Given the description of an element on the screen output the (x, y) to click on. 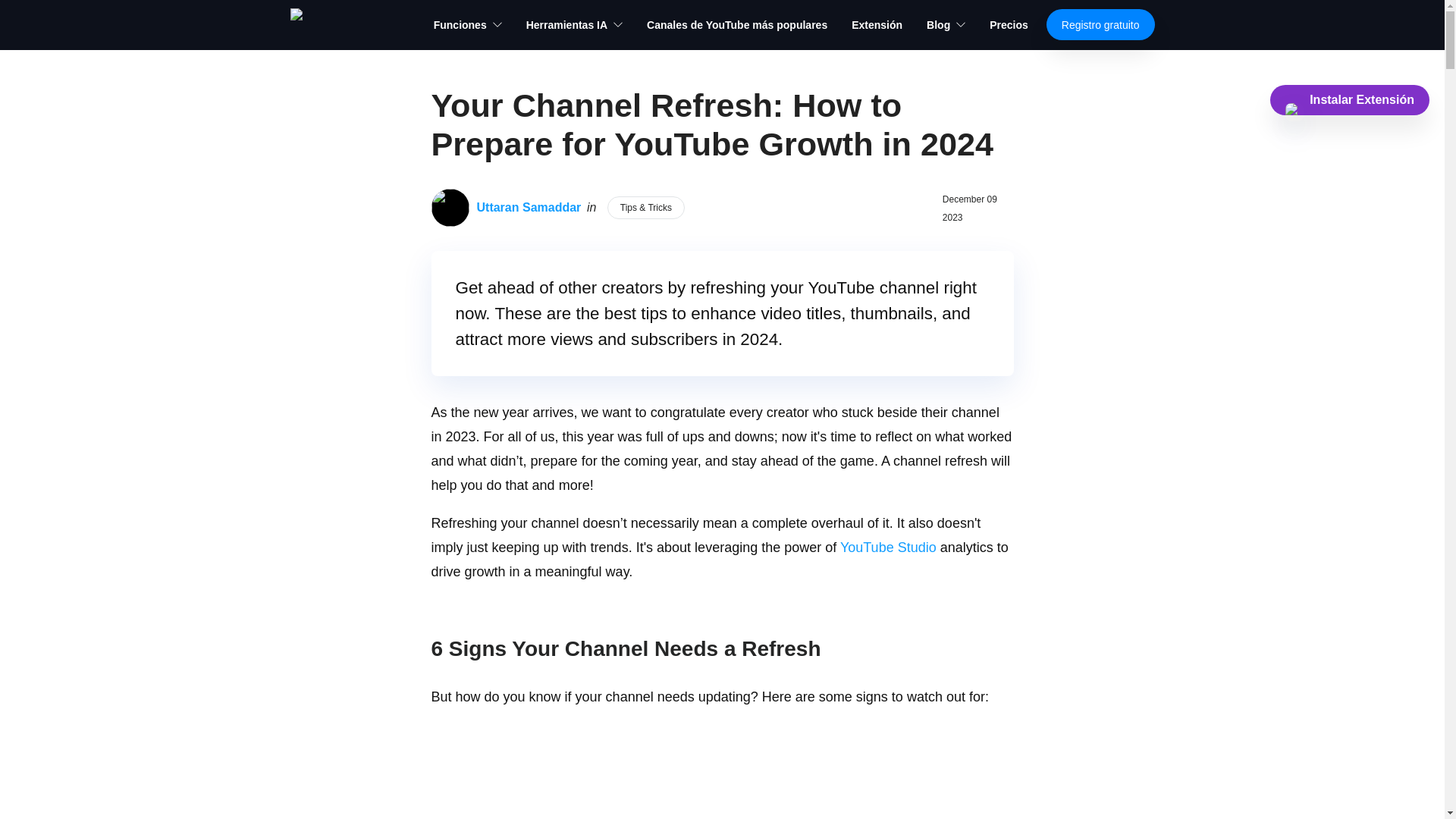
Registro gratuito (1100, 24)
Herramientas IA (574, 24)
Blog (945, 24)
Registro gratuito (1100, 24)
Precios (1008, 24)
Funciones (467, 24)
